Given the description of an element on the screen output the (x, y) to click on. 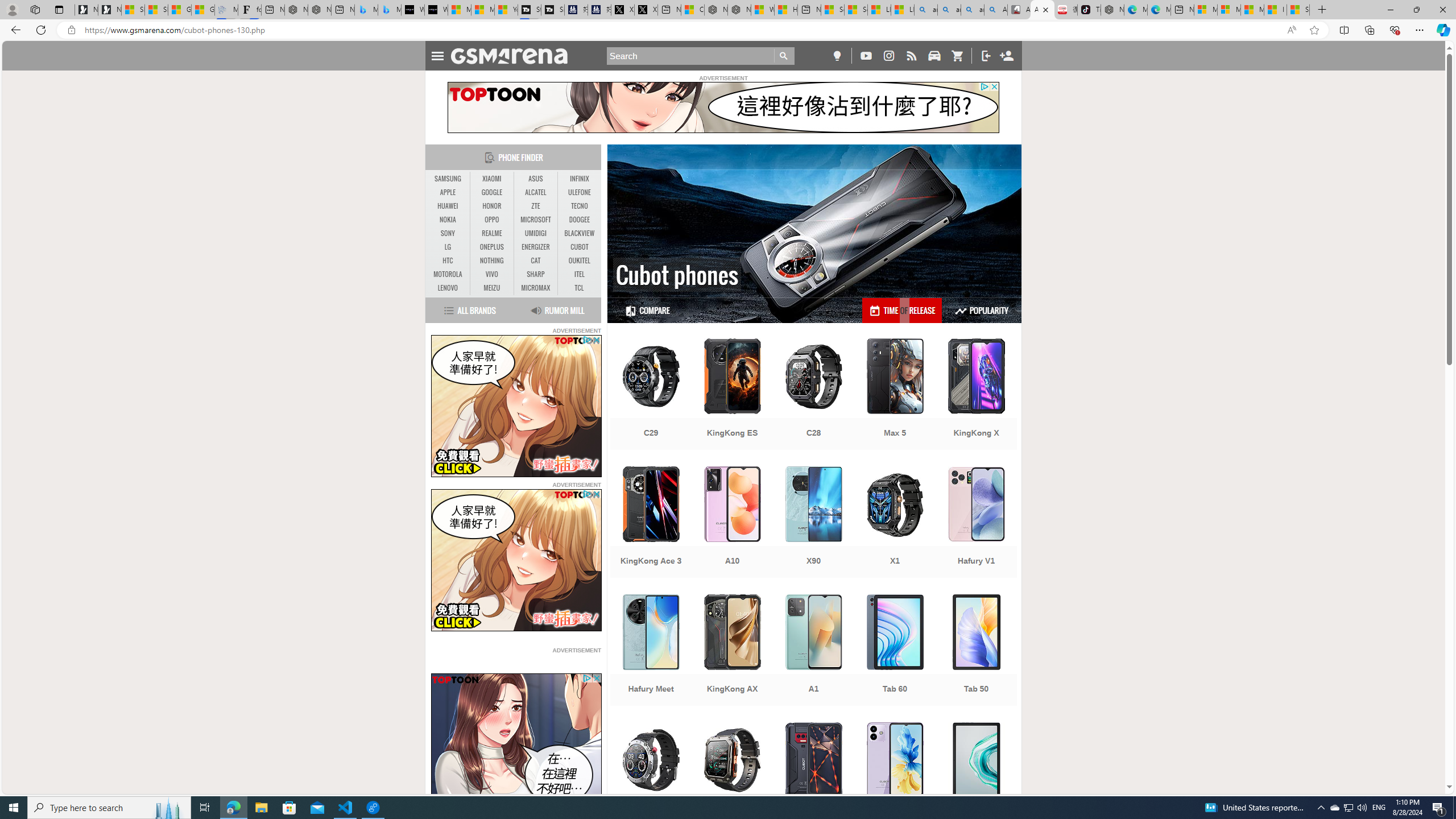
GOOGLE (491, 192)
SHARP (535, 273)
Microsoft Bing Travel - Shangri-La Hotel Bangkok (389, 9)
X90 (813, 523)
TECNO (579, 205)
DOOGEE (579, 219)
MEIZU (491, 287)
To get missing image descriptions, open the context menu. (515, 744)
Tab 50 (976, 651)
